Given the description of an element on the screen output the (x, y) to click on. 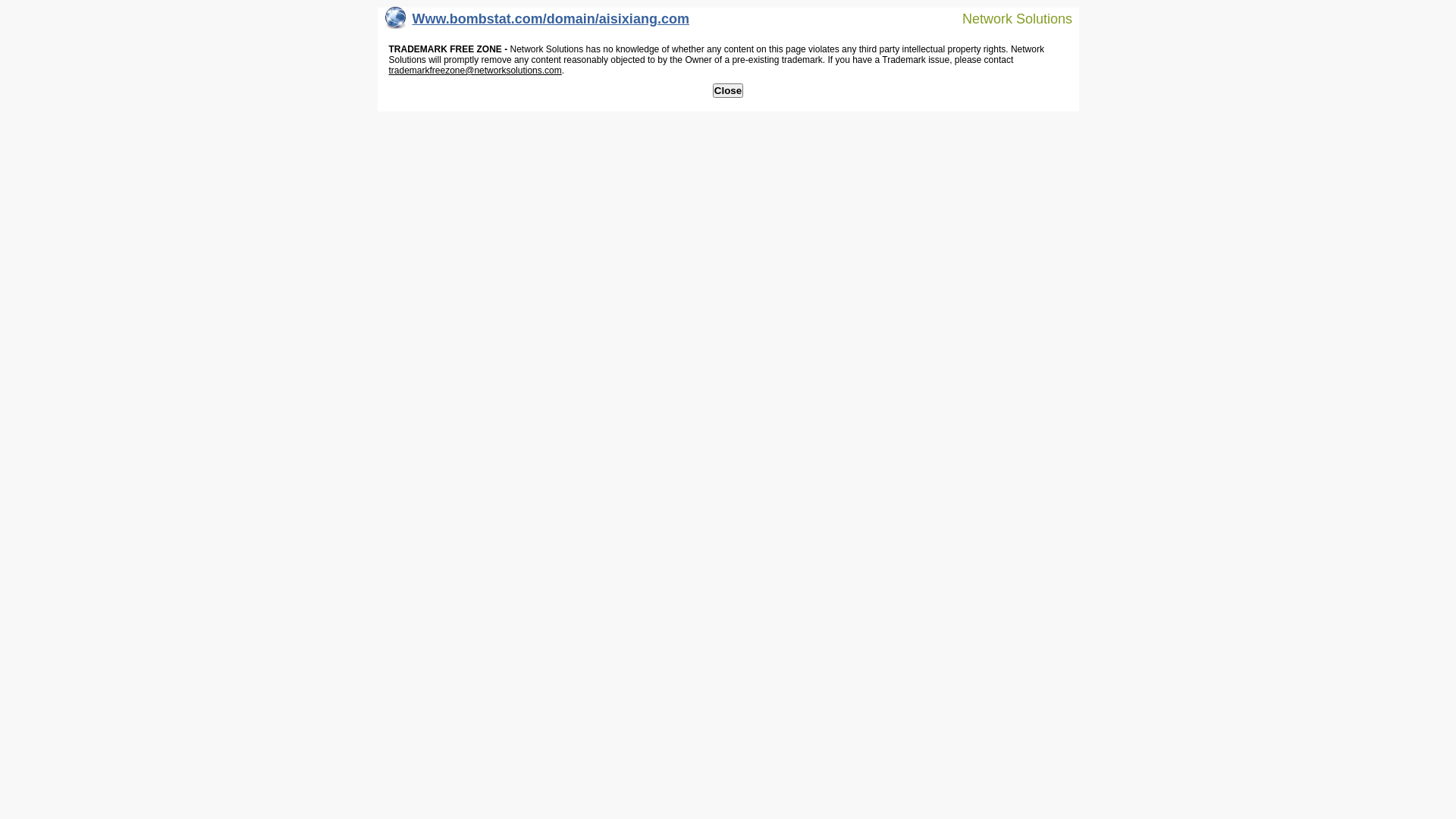
trademarkfreezone@networksolutions.com Element type: text (474, 70)
Www.bombstat.com/domain/aisixiang.com Element type: text (537, 21)
Close Element type: text (727, 90)
Network Solutions Element type: text (1007, 17)
